Given the description of an element on the screen output the (x, y) to click on. 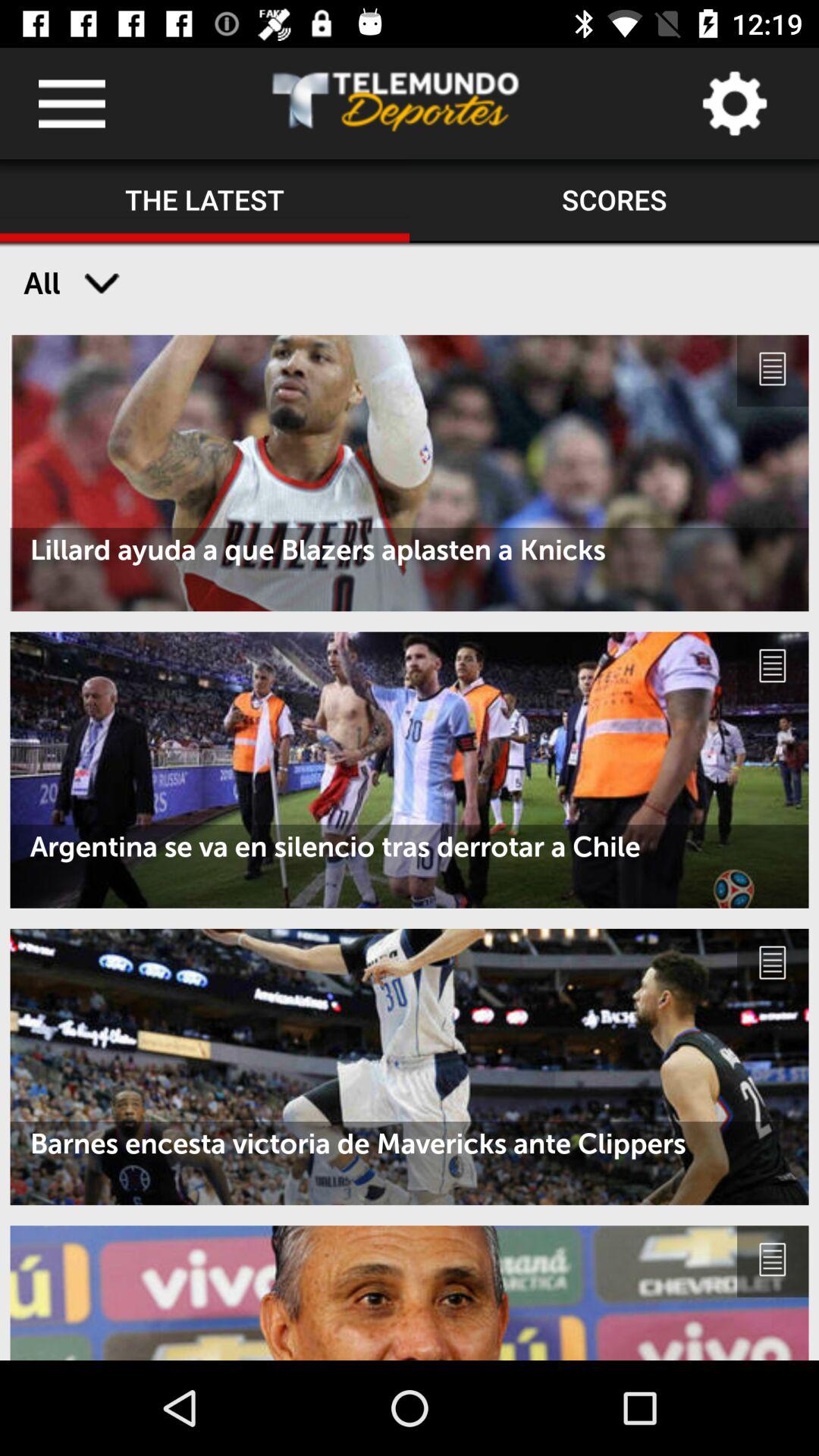
select the item to the right of the the latest (614, 200)
